Given the description of an element on the screen output the (x, y) to click on. 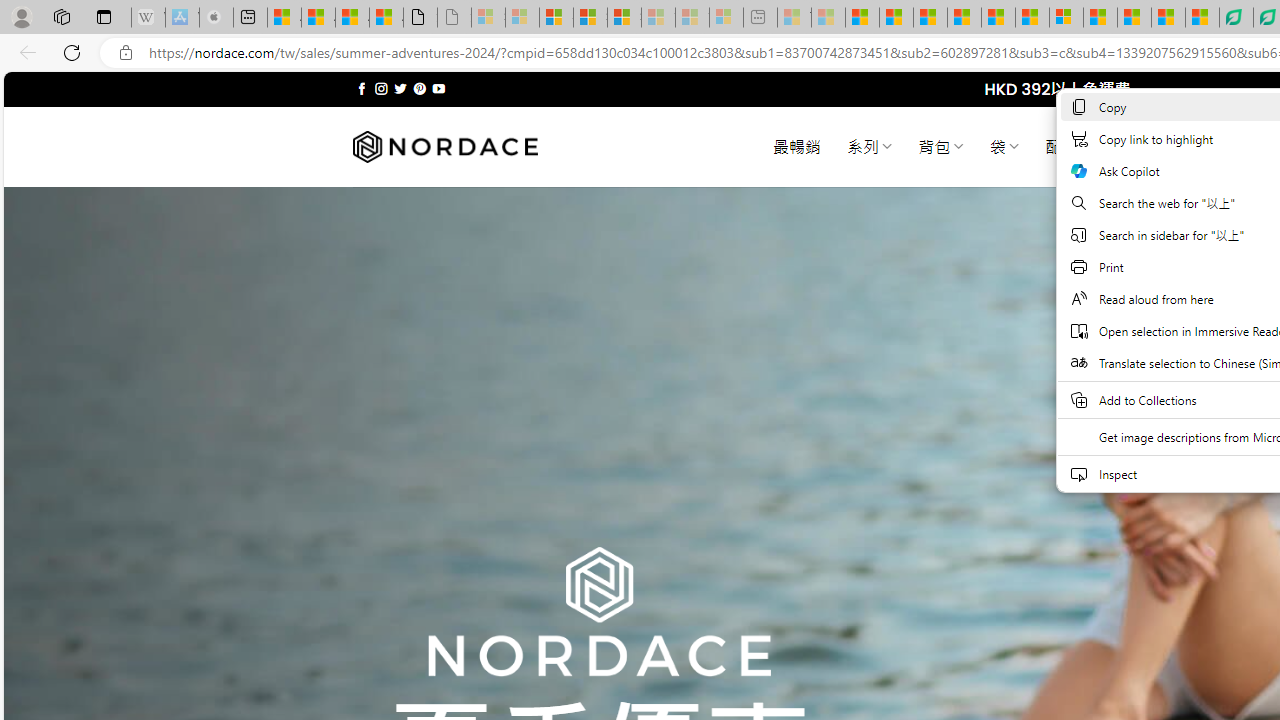
Aberdeen, Hong Kong SAR severe weather | Microsoft Weather (386, 17)
Sign in to your Microsoft account - Sleeping (488, 17)
Marine life - MSN - Sleeping (827, 17)
Follow on Facebook (361, 88)
